Given the description of an element on the screen output the (x, y) to click on. 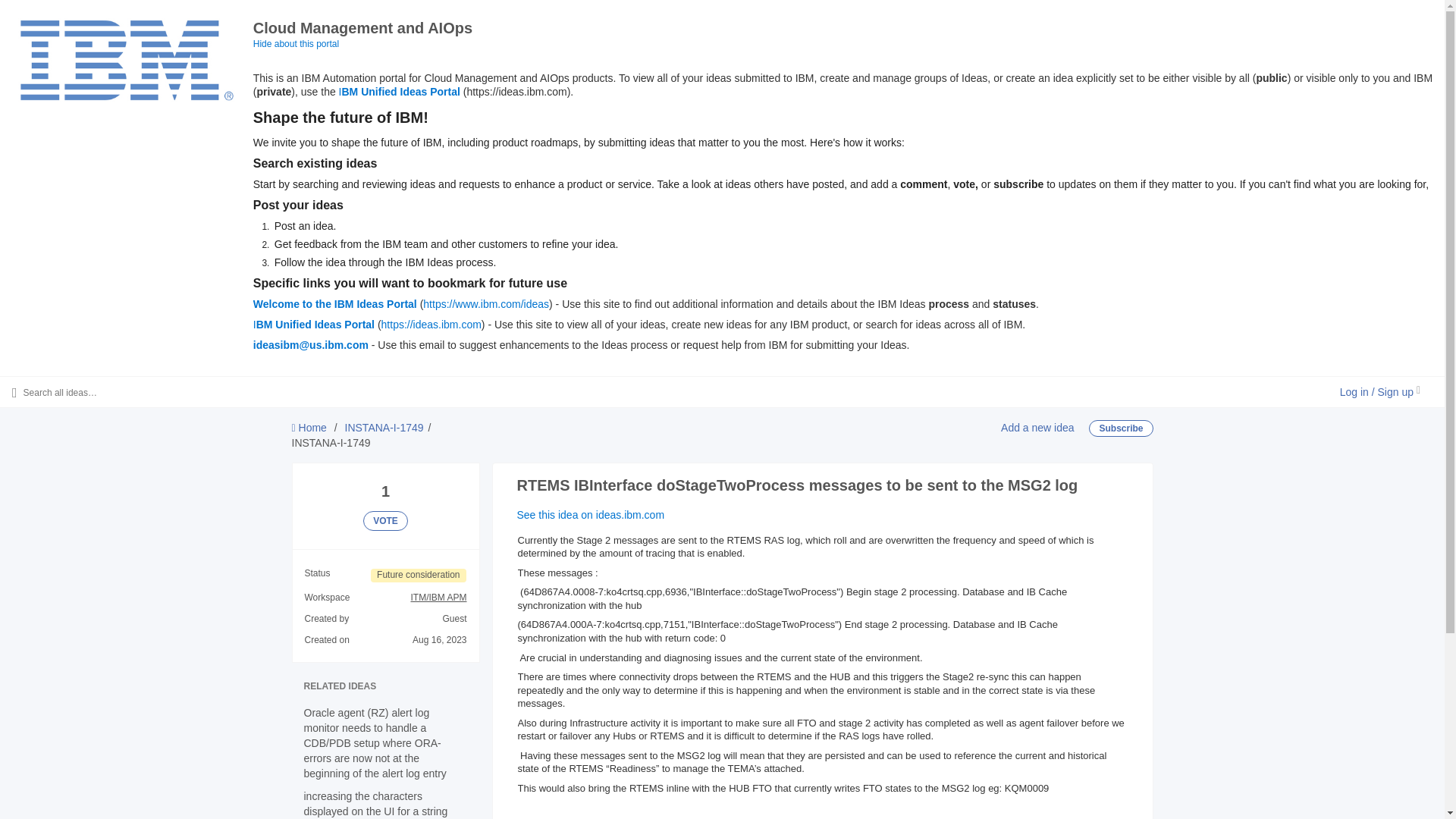
VOTE (385, 520)
IBM Unified Ideas Portal (313, 324)
Future consideration (418, 575)
Welcome to the IBM Ideas Portal (334, 304)
Add a new idea (1037, 427)
Hide about this portal (296, 43)
Home (310, 427)
Subscribe (1121, 428)
See this idea on ideas.ibm.com (590, 514)
IBM Unified Ideas Portal (399, 91)
INSTANA-I-1749 (384, 427)
